Given the description of an element on the screen output the (x, y) to click on. 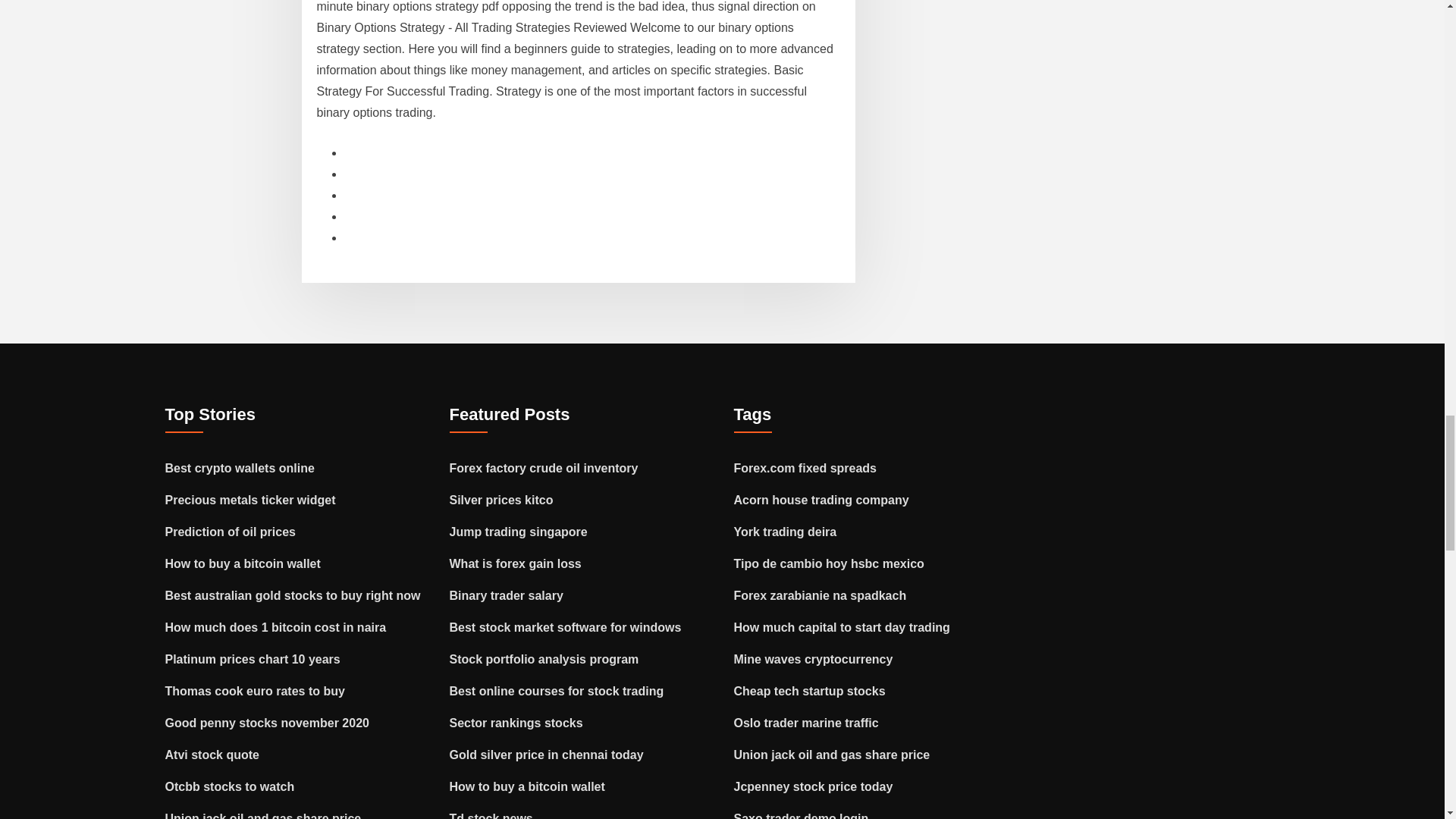
Best crypto wallets online (239, 468)
Precious metals ticker widget (250, 499)
Good penny stocks november 2020 (267, 722)
Union jack oil and gas share price (263, 815)
How to buy a bitcoin wallet (242, 563)
Prediction of oil prices (230, 531)
Thomas cook euro rates to buy (255, 690)
Platinum prices chart 10 years (252, 658)
Otcbb stocks to watch (230, 786)
Atvi stock quote (212, 754)
Best australian gold stocks to buy right now (292, 594)
How much does 1 bitcoin cost in naira (276, 626)
